Given the description of an element on the screen output the (x, y) to click on. 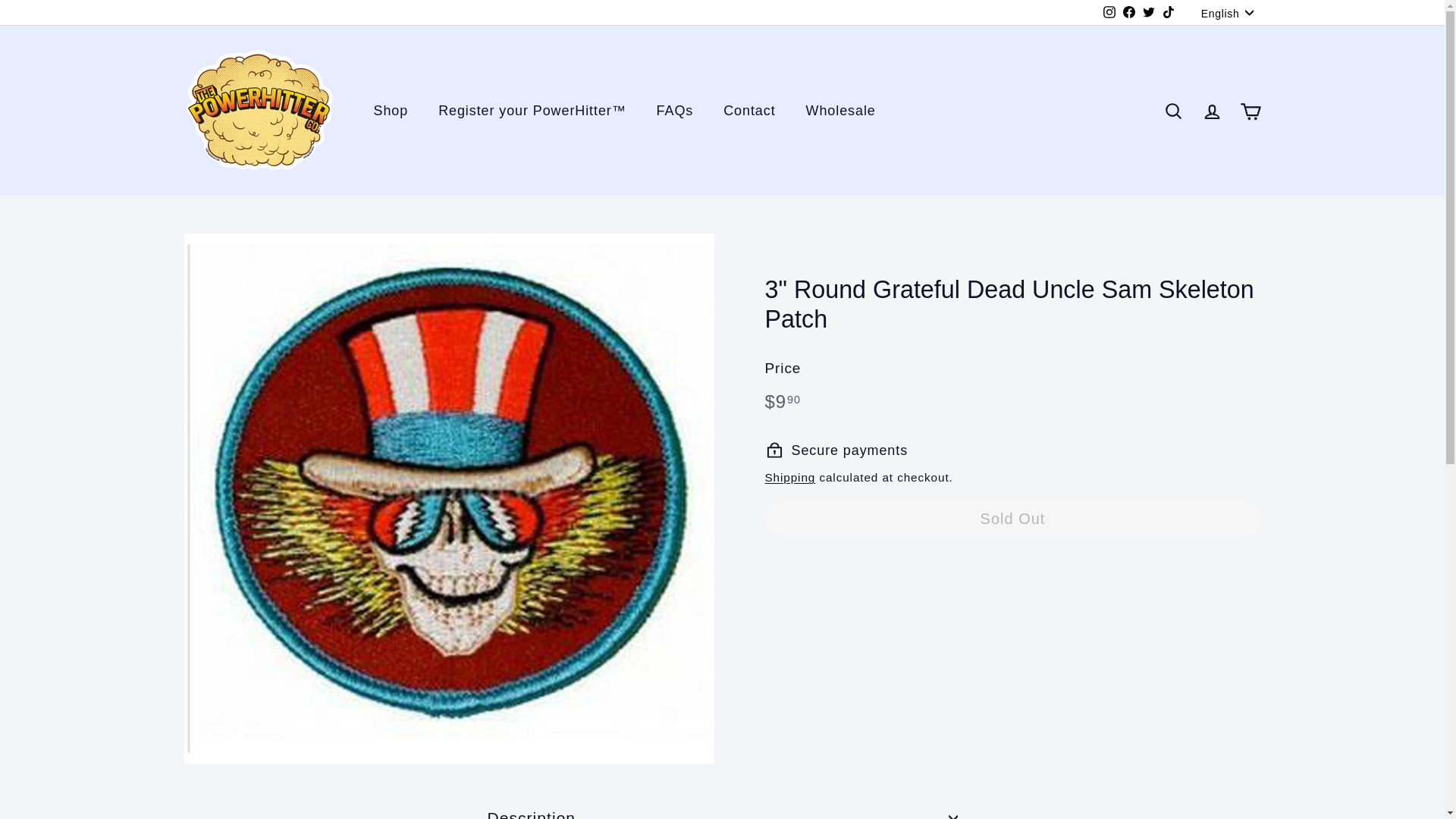
Shop (390, 110)
instagram (1109, 11)
Contact (748, 110)
Shipping (789, 477)
twitter (1148, 11)
Wholesale (840, 110)
FAQs (675, 110)
English (1230, 12)
